Given the description of an element on the screen output the (x, y) to click on. 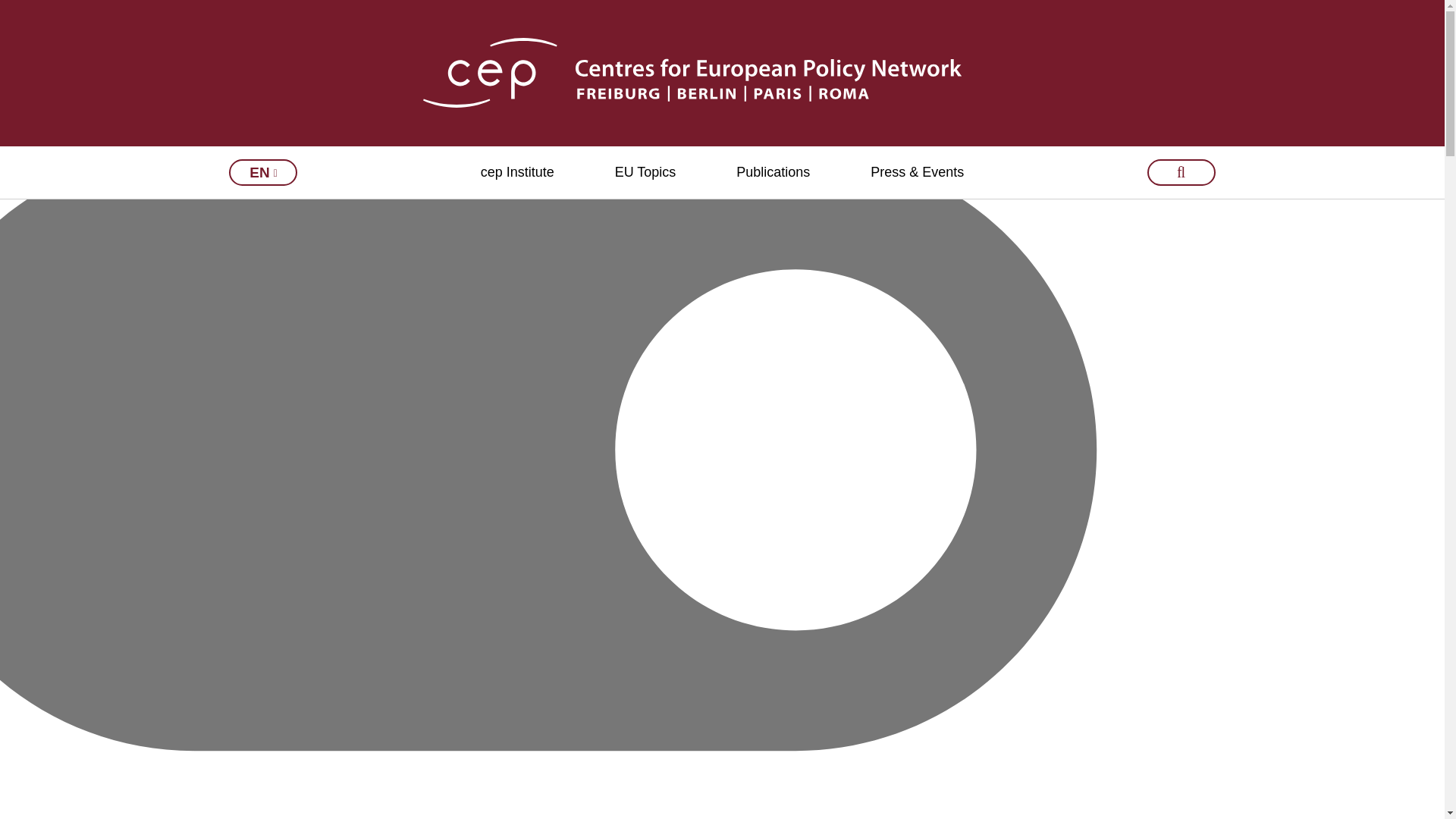
cep Institute (517, 172)
cep Institute (517, 172)
EU Topics (645, 172)
EU Topics (645, 172)
Publications (772, 172)
cep - Centre for European Policy Network (722, 72)
